Given the description of an element on the screen output the (x, y) to click on. 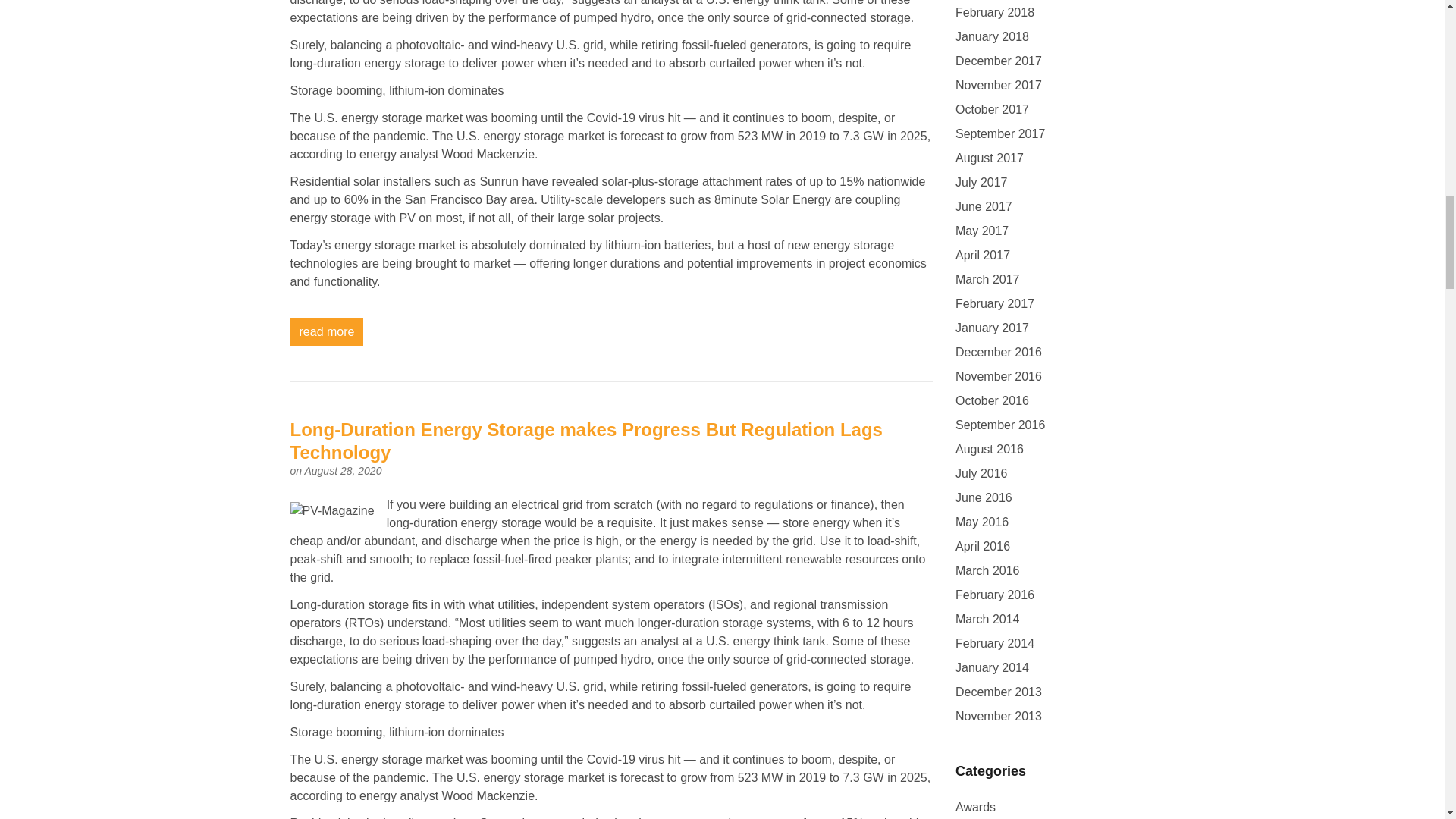
read more (325, 331)
